Given the description of an element on the screen output the (x, y) to click on. 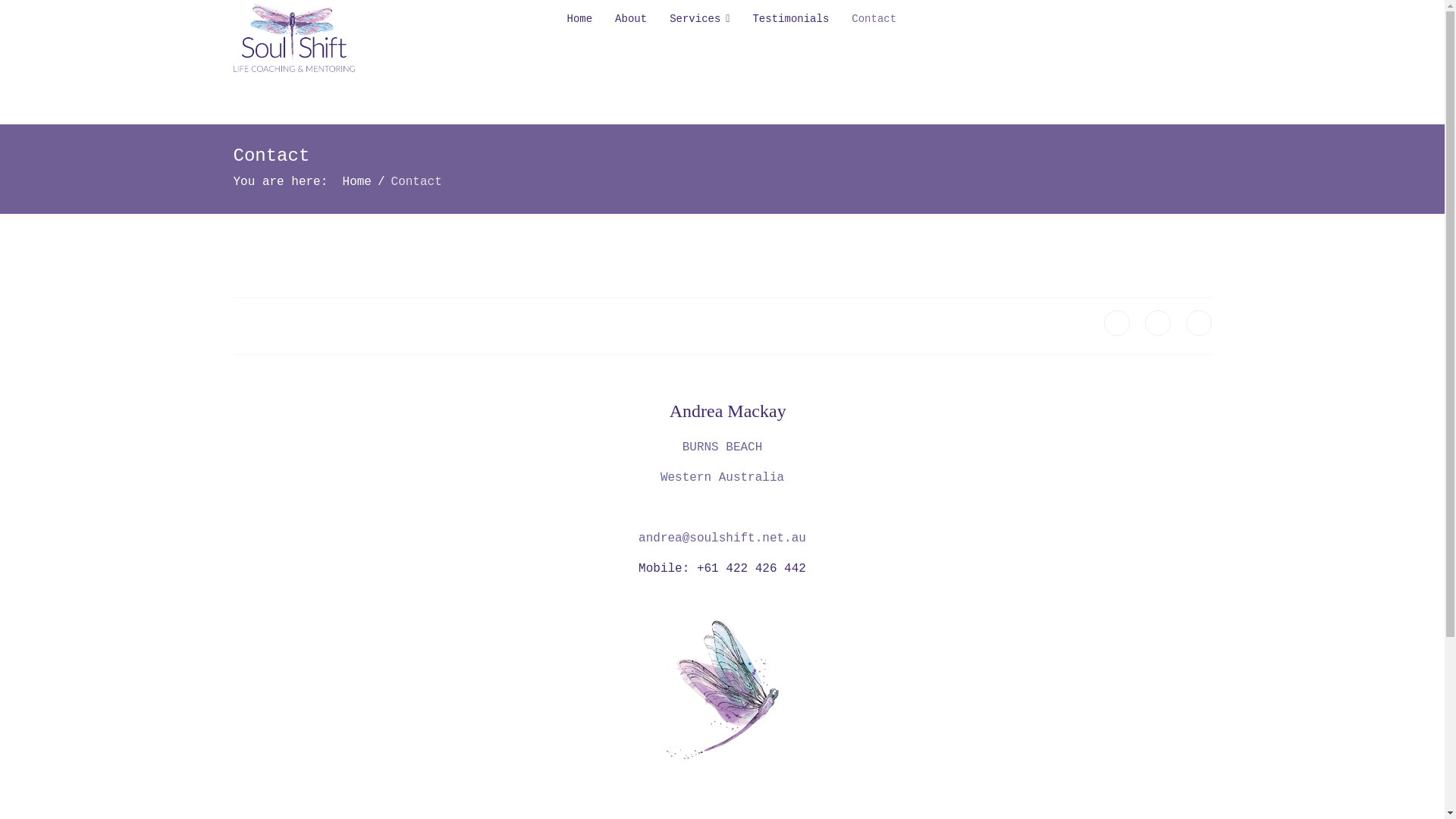
Contact Element type: text (868, 18)
Services Element type: text (699, 18)
About Element type: text (630, 18)
andrea@soulshift.net.au Element type: text (722, 538)
Home Element type: text (579, 18)
Twitter Element type: hover (1157, 322)
LinkedIn Element type: hover (1198, 322)
Home Element type: text (356, 181)
Testimonials Element type: text (790, 18)
Facebook Element type: hover (1116, 322)
